Given the description of an element on the screen output the (x, y) to click on. 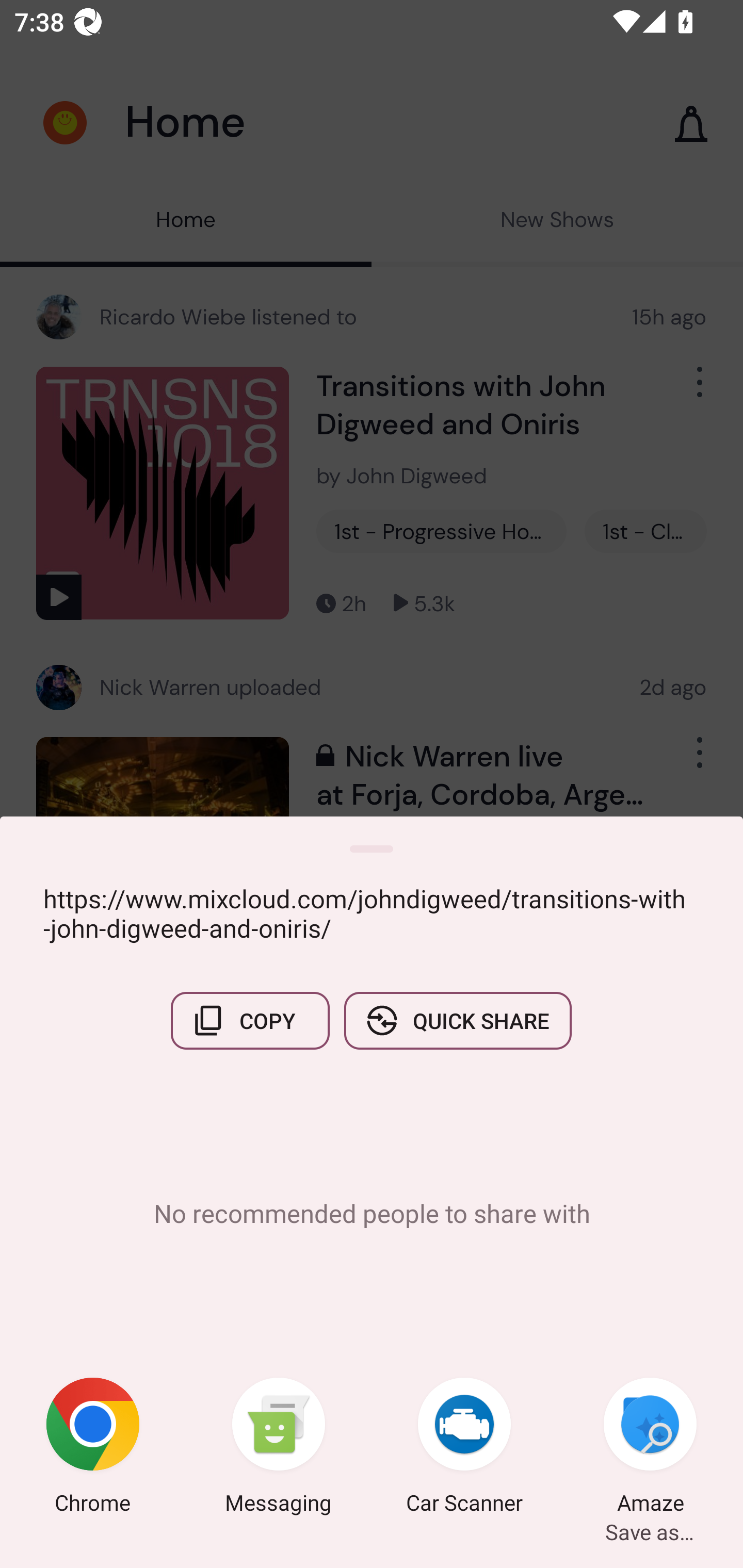
COPY (249, 1020)
QUICK SHARE (457, 1020)
Chrome (92, 1448)
Messaging (278, 1448)
Car Scanner (464, 1448)
Amaze Save as… (650, 1448)
